Given the description of an element on the screen output the (x, y) to click on. 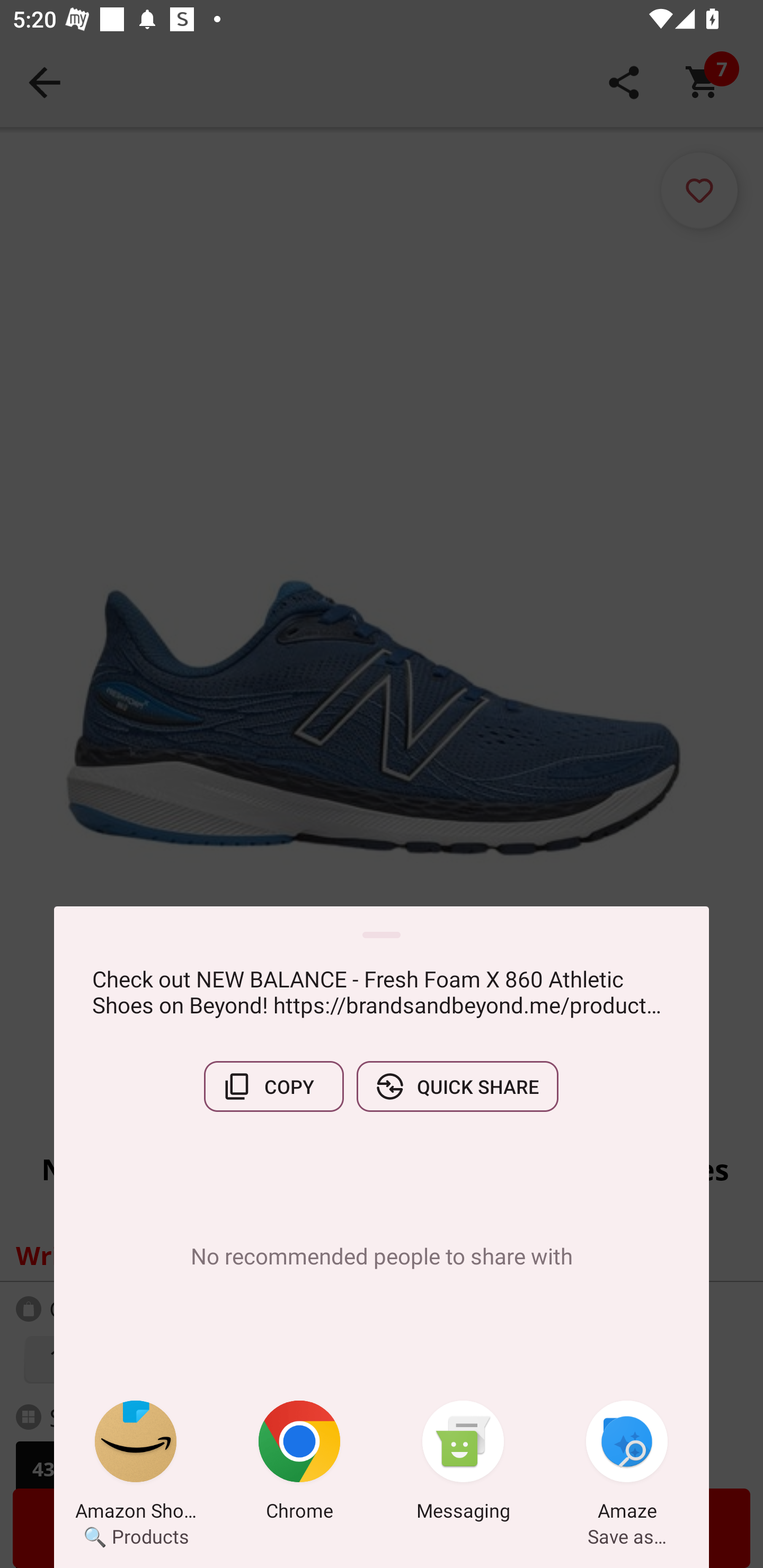
COPY (273, 1086)
QUICK SHARE (457, 1086)
Amazon Shopping 🔍 Products (135, 1463)
Chrome (299, 1463)
Messaging (463, 1463)
Amaze Save as… (626, 1463)
